Given the description of an element on the screen output the (x, y) to click on. 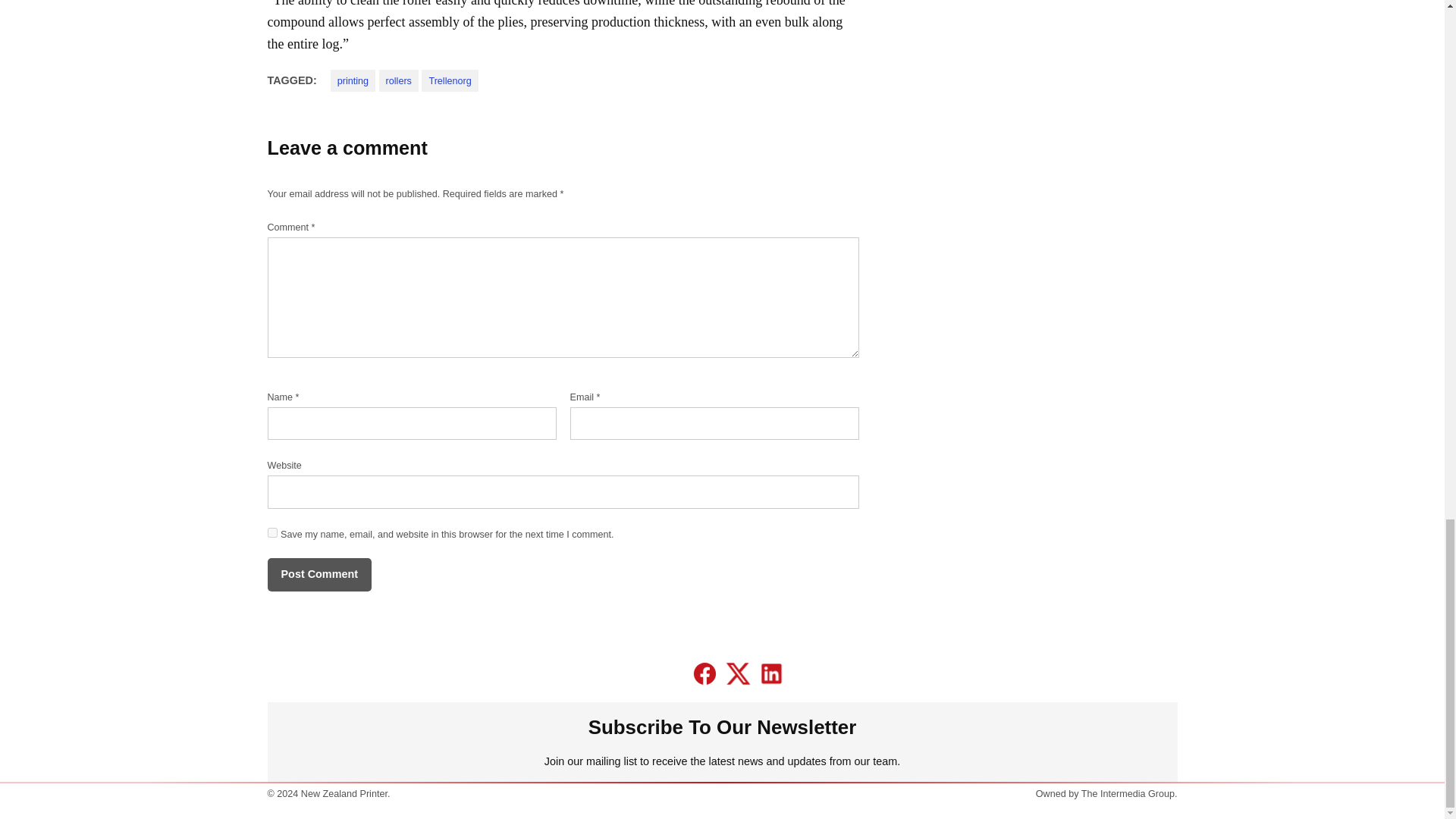
Post Comment (318, 574)
rollers (398, 80)
yes (271, 532)
Post Comment (318, 574)
Trellenorg (449, 80)
printing (352, 80)
